Given the description of an element on the screen output the (x, y) to click on. 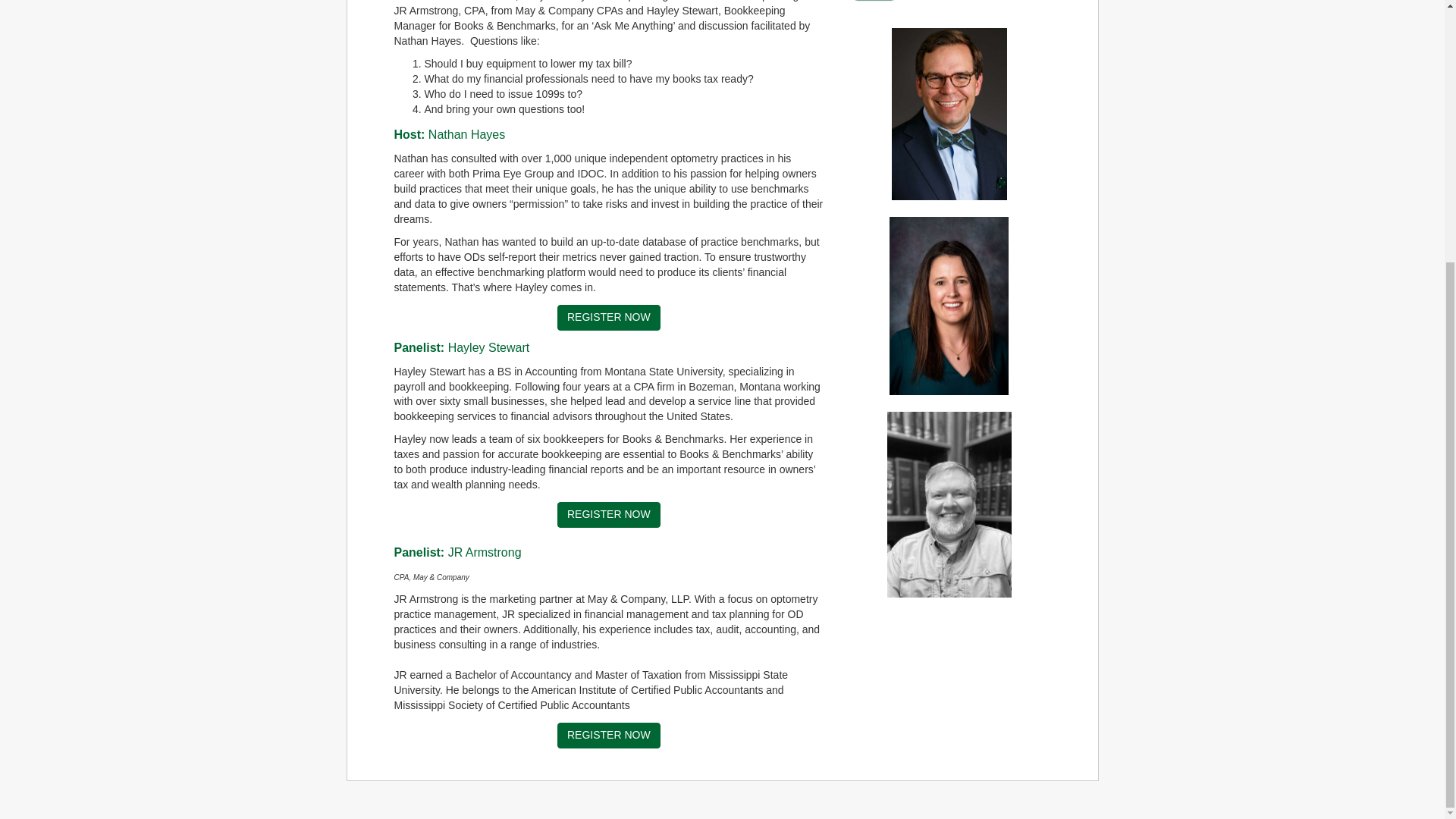
REGISTER NOW (609, 514)
REGISTER NOW (609, 735)
REGISTER NOW (609, 317)
